Given the description of an element on the screen output the (x, y) to click on. 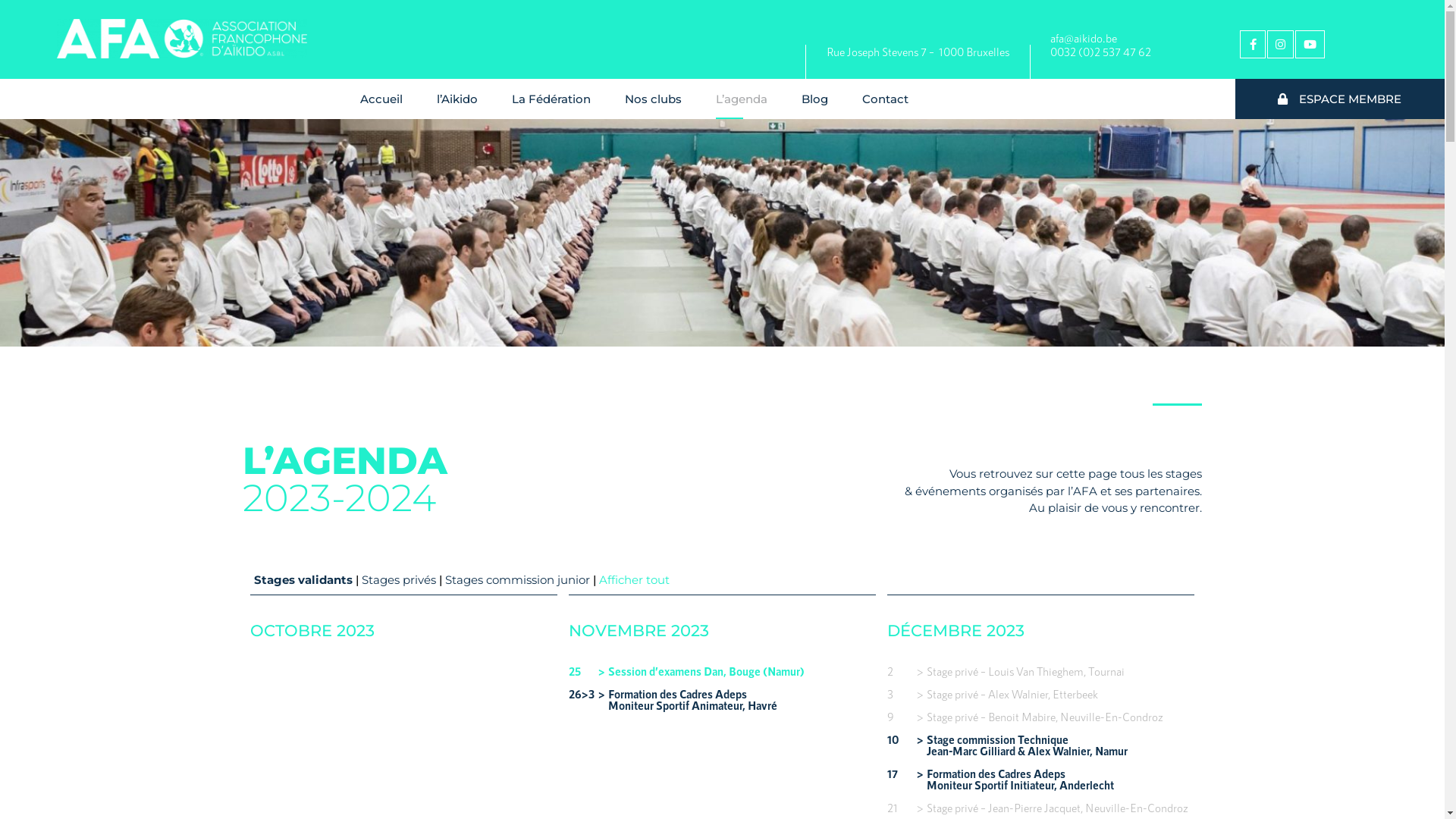
ESPACE MEMBRE Element type: text (1339, 98)
Nos clubs Element type: text (653, 98)
Blog Element type: text (814, 98)
Contact Element type: text (885, 98)
afa@aikido.be Element type: text (1083, 37)
Accueil Element type: text (381, 98)
0032 (0)2 537 47 62 Element type: text (1100, 51)
